Given the description of an element on the screen output the (x, y) to click on. 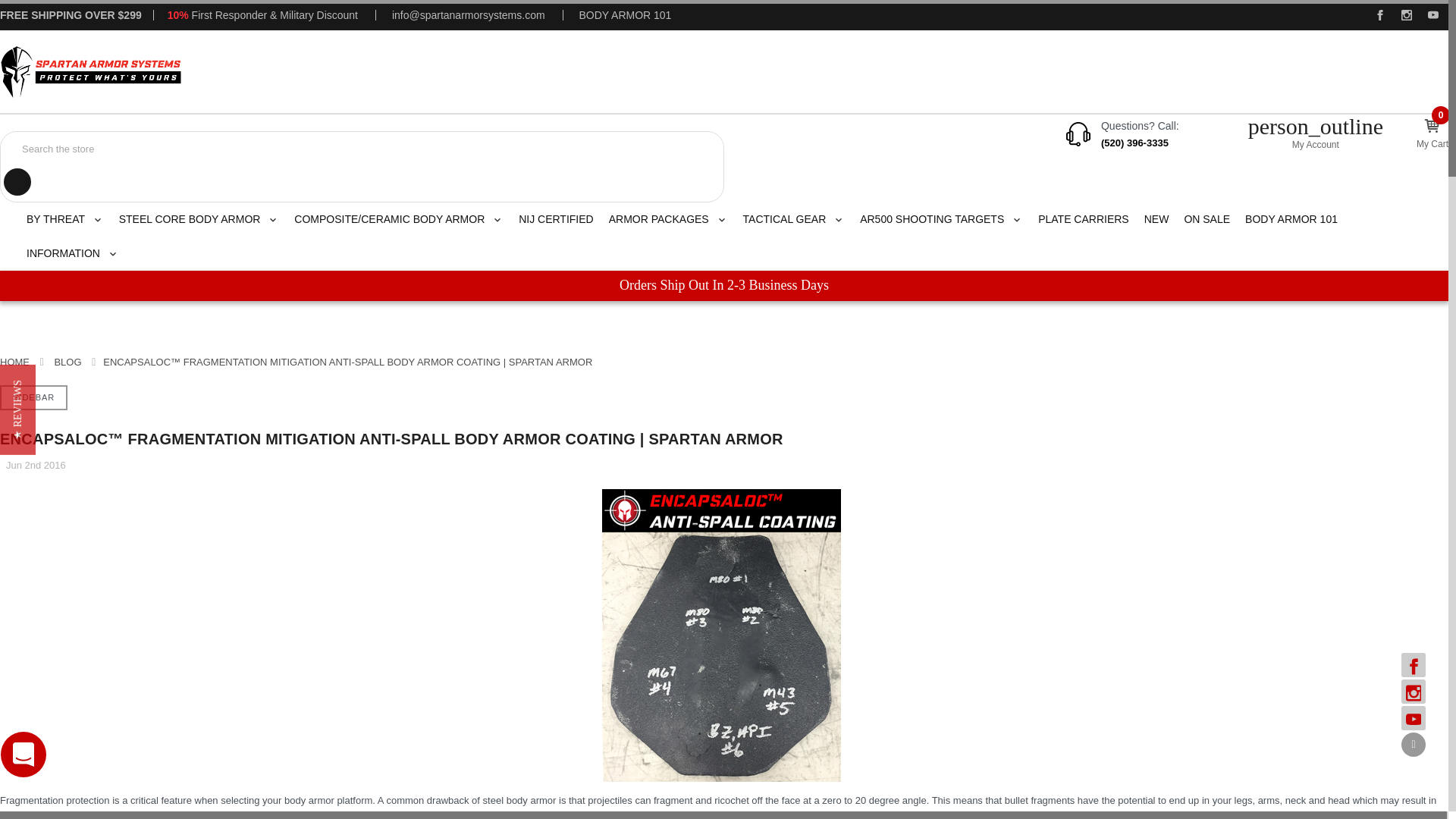
Spartan Armor Systems (91, 71)
